Given the description of an element on the screen output the (x, y) to click on. 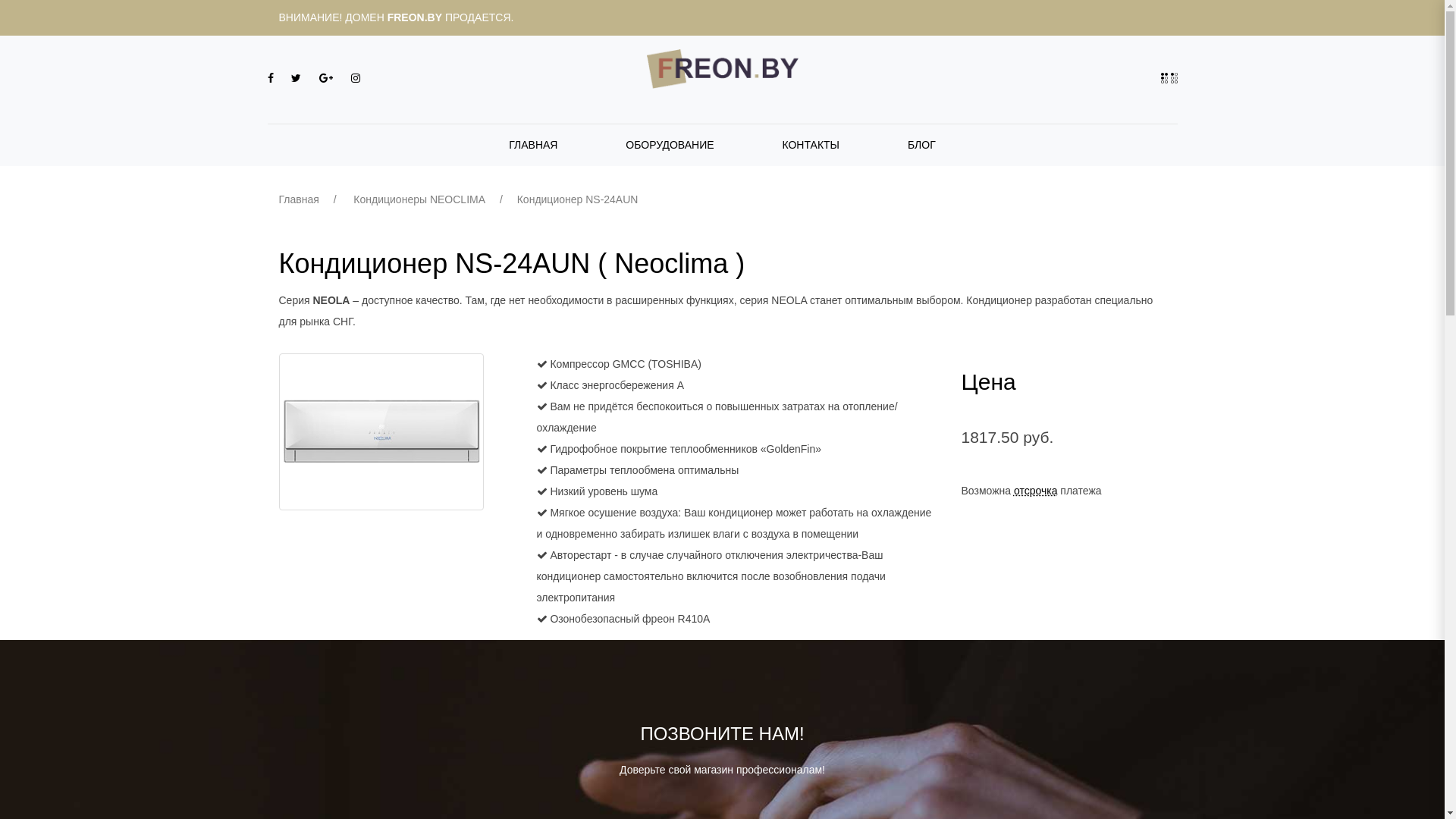
Instagram Element type: hover (355, 78)
Facebook Element type: hover (271, 78)
Twitter Element type: hover (297, 78)
Google+ Element type: hover (327, 78)
